Given the description of an element on the screen output the (x, y) to click on. 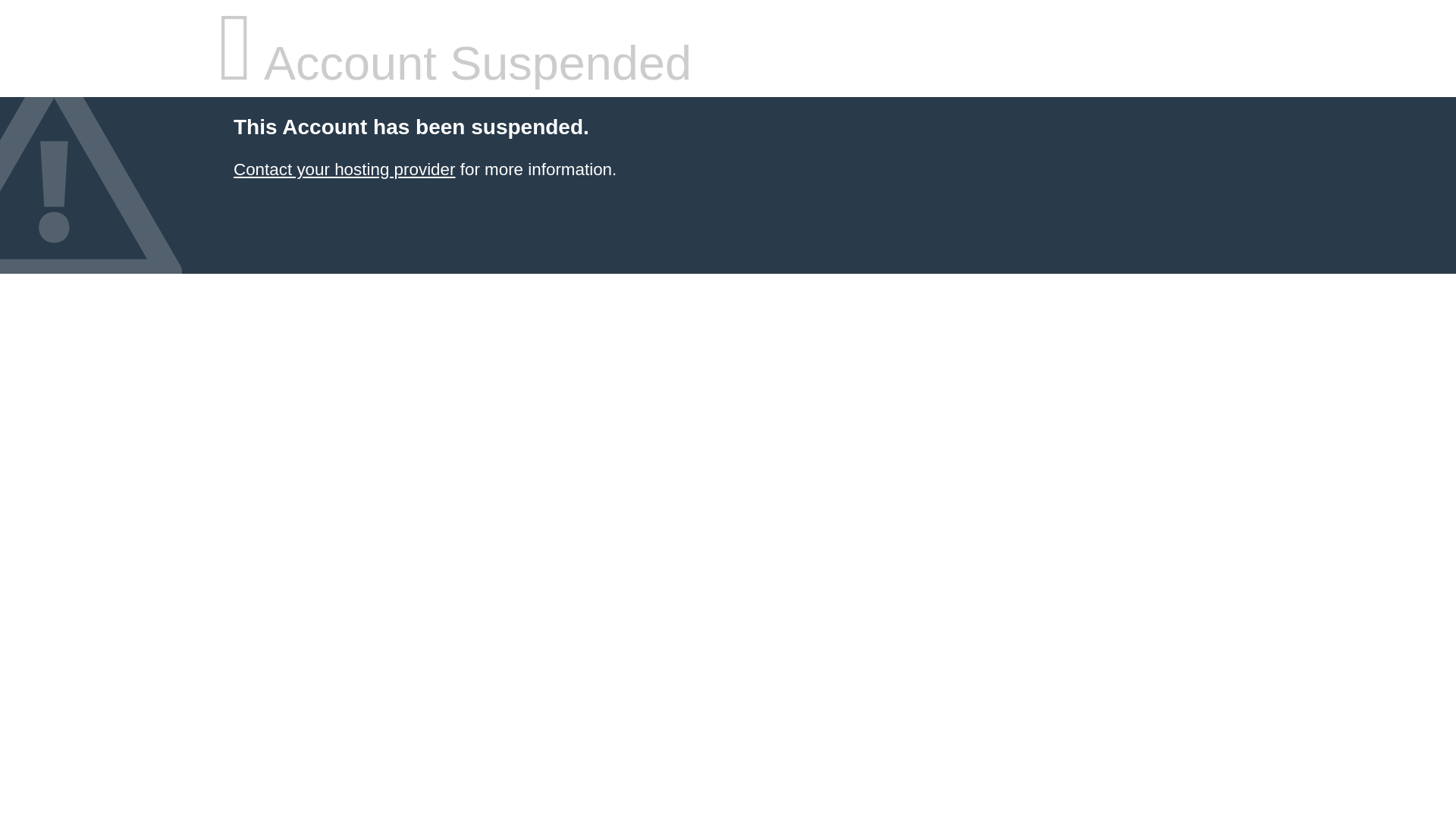
Contact your hosting provider Element type: text (344, 169)
